Given the description of an element on the screen output the (x, y) to click on. 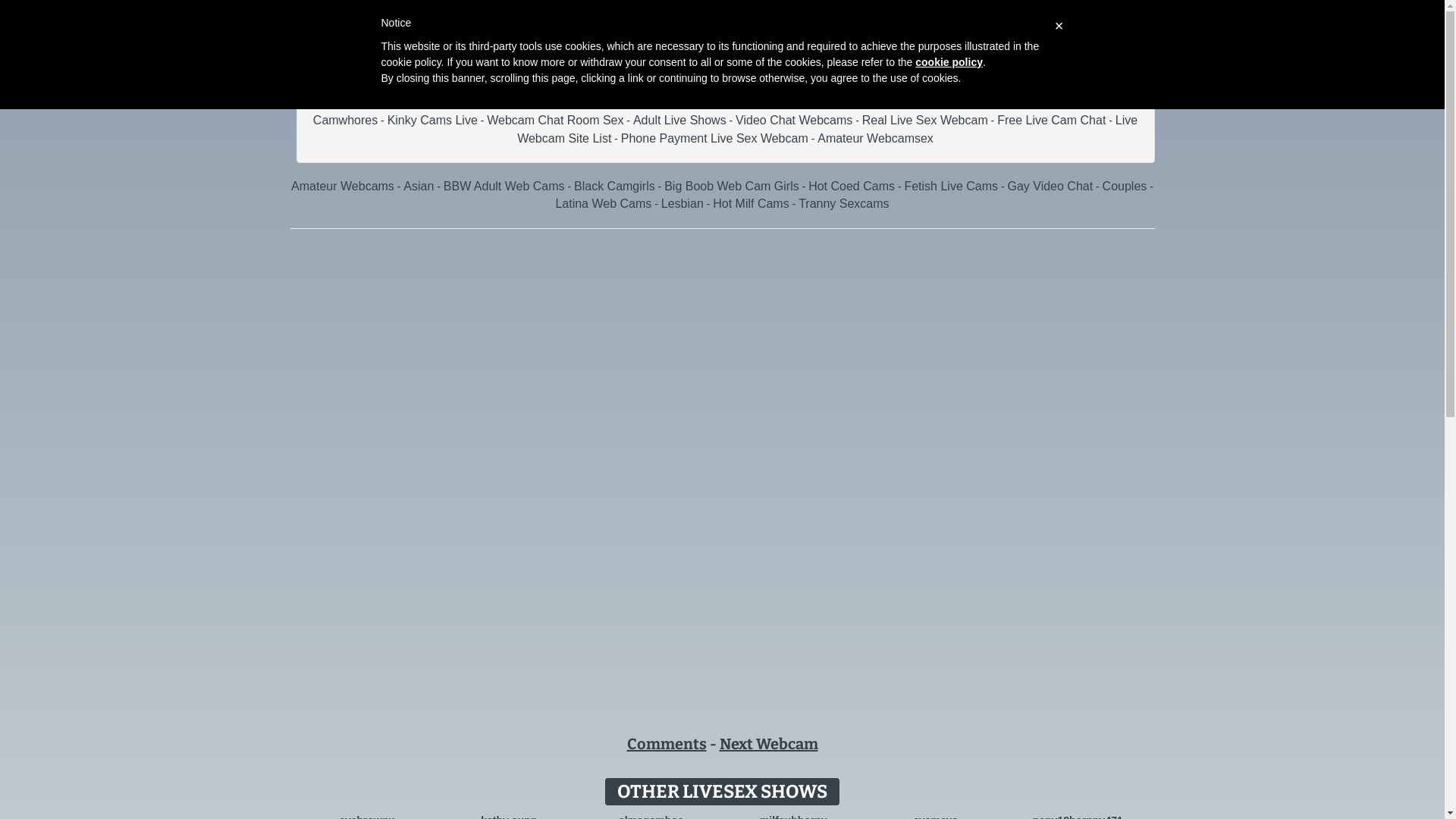
Kinky Video Chat Room Element type: text (996, 101)
Random Live Cam Element type: text (872, 101)
cookie policy Element type: text (948, 62)
BBW Adult Web Cams Element type: text (503, 185)
Couples Element type: text (1124, 185)
Amateur Webcamsex Element type: text (875, 137)
Black Camgirls Element type: text (614, 185)
2Sexy2Cam Element type: text (362, 101)
Fetish Live Cams Element type: text (950, 185)
Comments Element type: text (666, 743)
Amateur Sex Webcam Show Element type: text (735, 101)
Adult Live Shows Element type: text (679, 119)
Amateur Webcams Element type: text (342, 185)
Hardcore Camwhores Element type: text (716, 110)
Free Webcam Video Chat Element type: text (474, 101)
Real Live Sex Webcam Element type: text (925, 119)
Big Boob Web Cam Girls Element type: text (731, 185)
Phone Payment Live Sex Webcam Element type: text (714, 137)
Asian Element type: text (418, 185)
Hot Coed Cams Element type: text (851, 185)
Next Webcam Element type: text (767, 743)
Kinky Cams Live Element type: text (432, 119)
Lesbian Element type: text (682, 203)
Tranny Sexcams Element type: text (843, 203)
Camslut Webcam Element type: text (601, 101)
Gay Video Chat Element type: text (1049, 185)
Live Webcam Site List Element type: text (827, 128)
Webcam Chat Room Sex Element type: text (554, 119)
Free Live Cam Chat Element type: text (1051, 119)
Latina Web Cams Element type: text (603, 203)
Video Chat Webcams Element type: text (793, 119)
Hot Milf Cams Element type: text (750, 203)
